Given the description of an element on the screen output the (x, y) to click on. 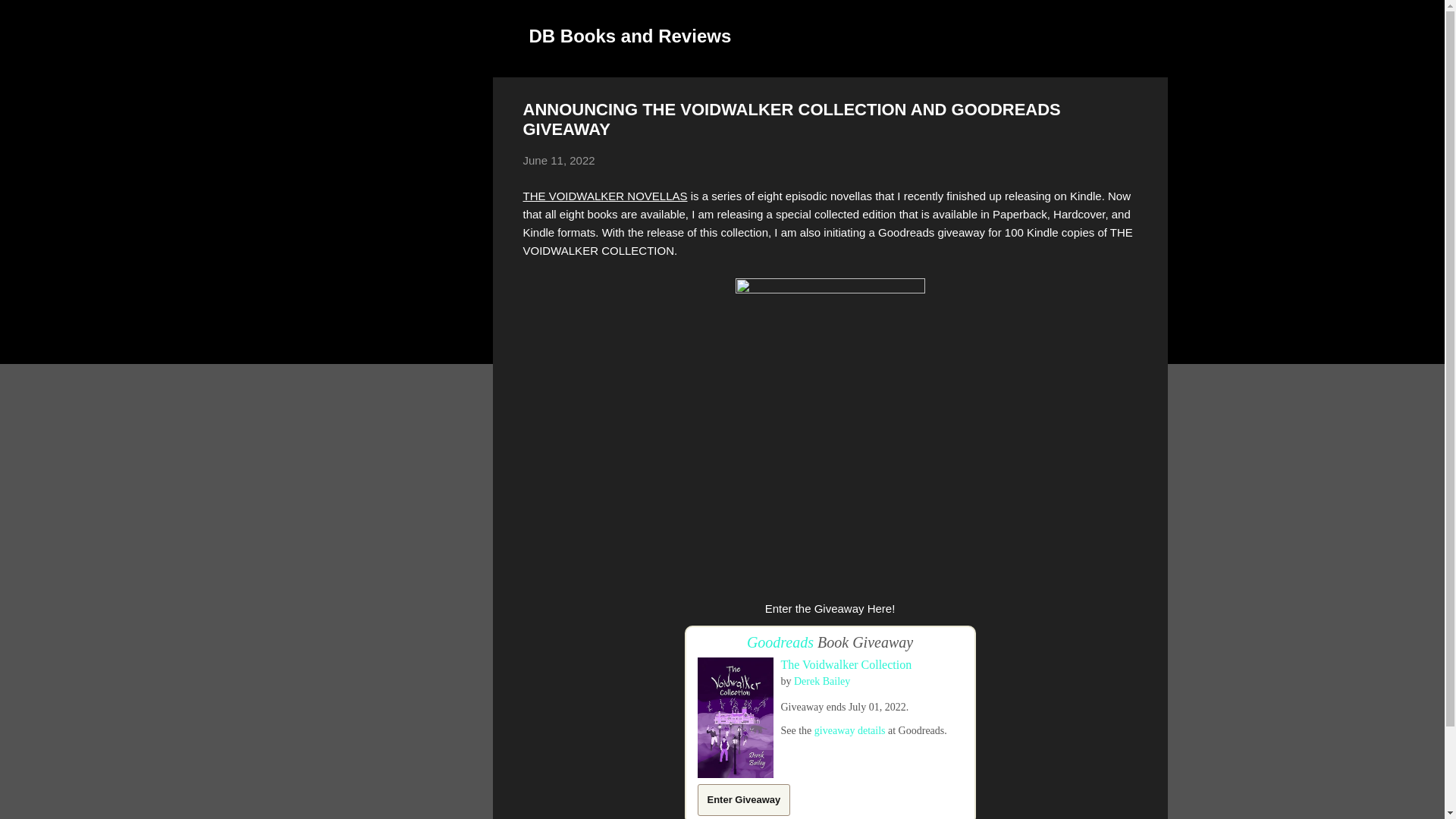
Enter Giveaway (743, 799)
DB Books and Reviews (630, 35)
Search (29, 18)
June 11, 2022 (558, 160)
giveaway details (849, 730)
permanent link (558, 160)
Goodreads (779, 641)
The Voidwalker Collection (846, 664)
Derek Bailey (821, 680)
